Given the description of an element on the screen output the (x, y) to click on. 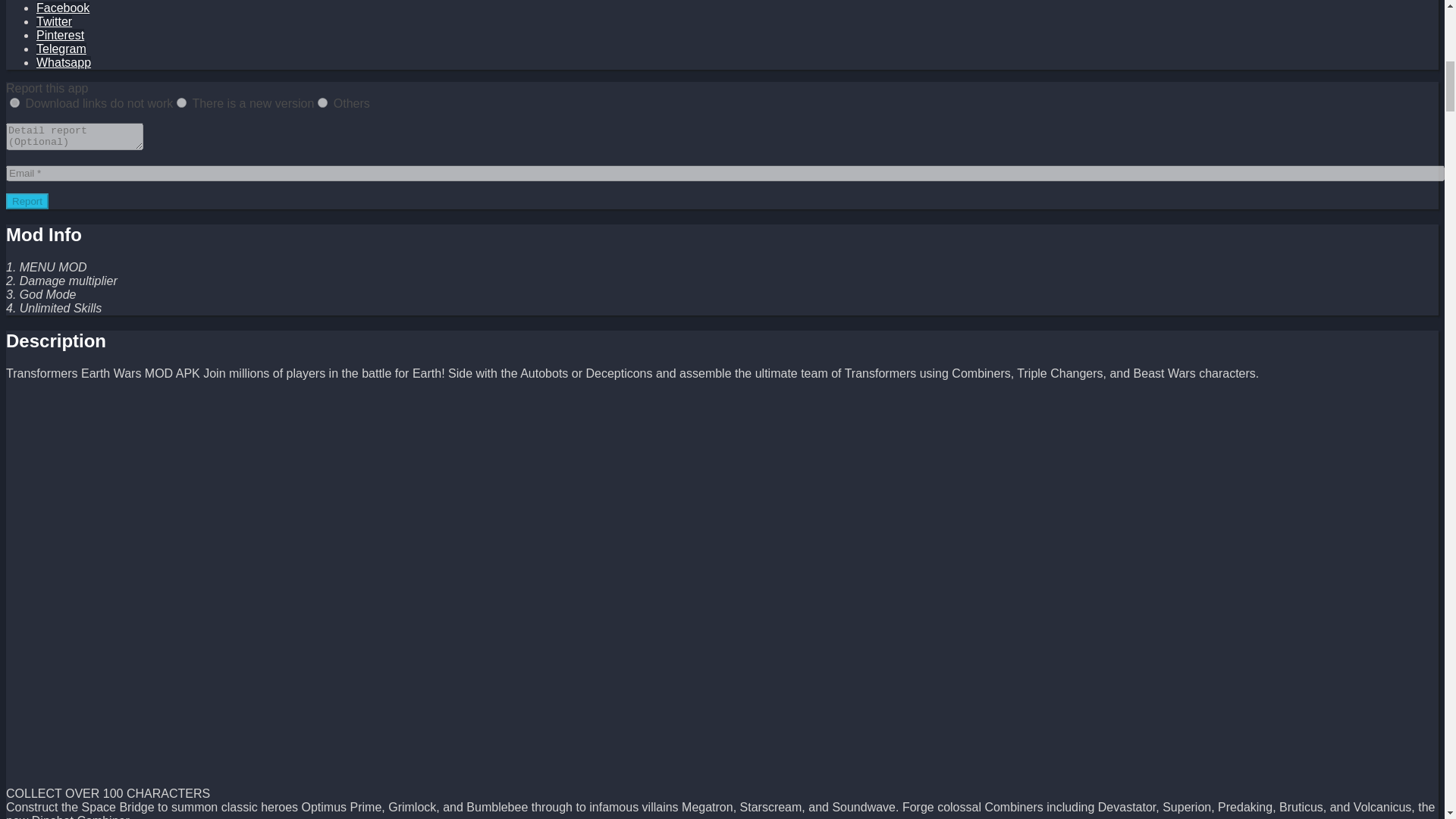
1 (15, 102)
Telegram (60, 48)
Report (26, 201)
Whatsapp (63, 62)
Pinterest (60, 34)
3 (322, 102)
2 (181, 102)
Report (26, 201)
Twitter (53, 21)
Facebook (62, 7)
